Given the description of an element on the screen output the (x, y) to click on. 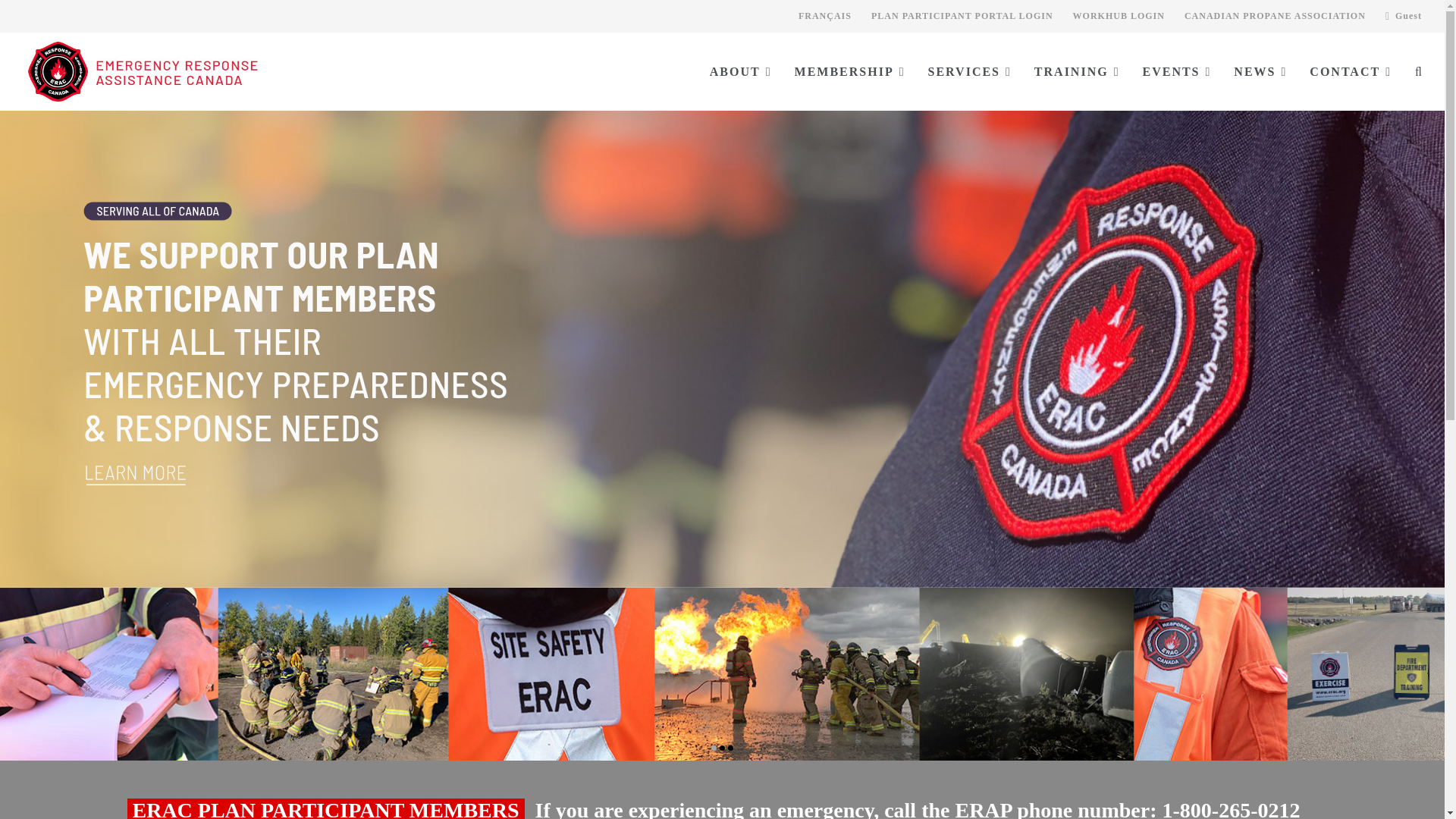
CANADIAN PROPANE ASSOCIATION (1274, 16)
WORKHUB LOGIN (1118, 16)
PLAN PARTICIPANT PORTAL LOGIN (961, 16)
WORKHUB LOGIN (1118, 16)
MEMBERSHIP (849, 71)
Home Page (259, 71)
CANADIAN PROPANE ASSOCIATION (1274, 16)
PLAN PARTICIPANT PORTAL LOGIN (961, 16)
SERVICES (969, 71)
MEMBERSHIP (849, 71)
